Given the description of an element on the screen output the (x, y) to click on. 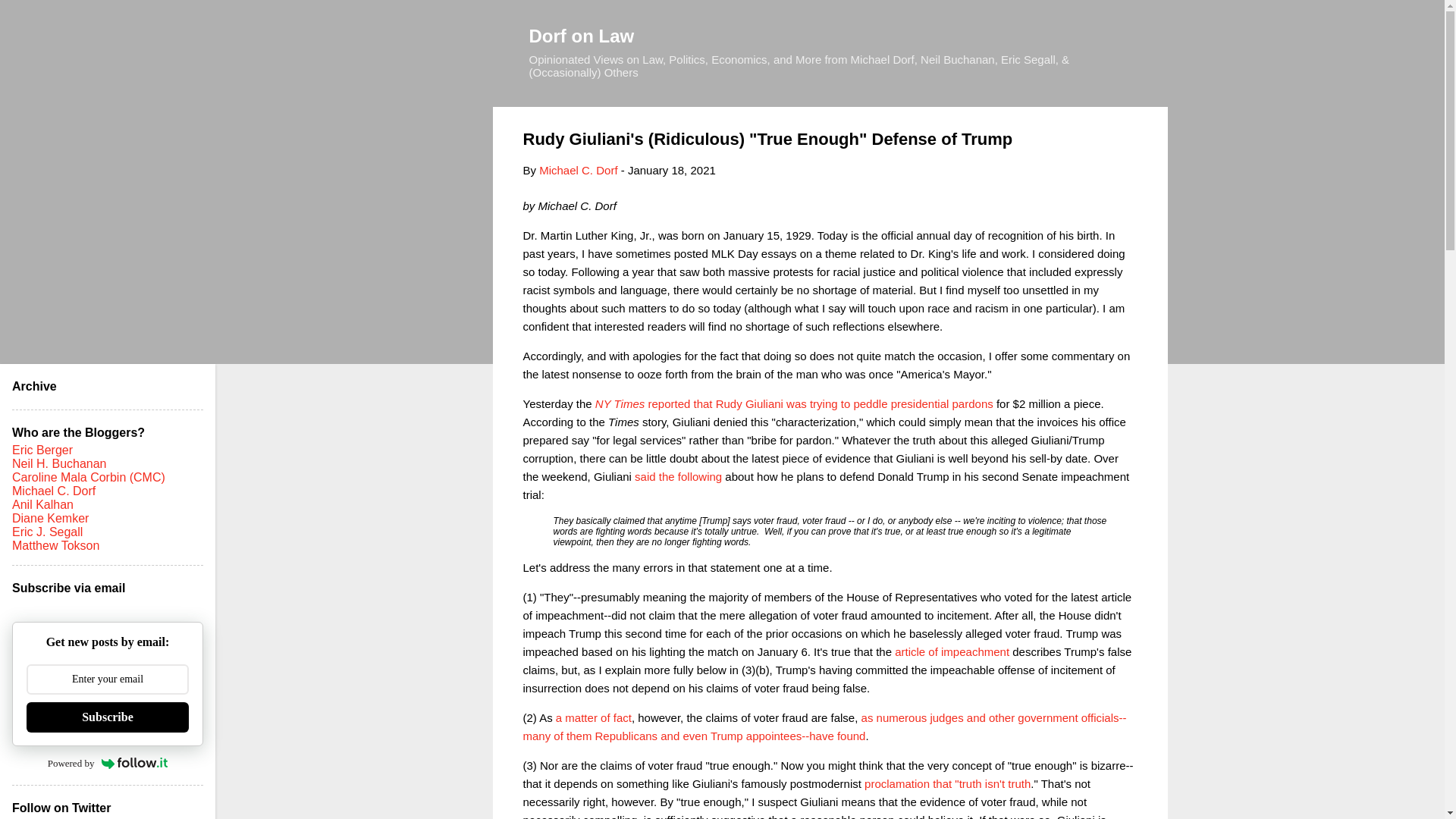
article of impeachment (952, 650)
January 18, 2021 (671, 169)
said the following (678, 476)
a matter of fact (593, 717)
Dorf on Law (581, 35)
proclamation that "truth isn't truth (947, 782)
Michael C. Dorf (577, 169)
Search (29, 18)
